Given the description of an element on the screen output the (x, y) to click on. 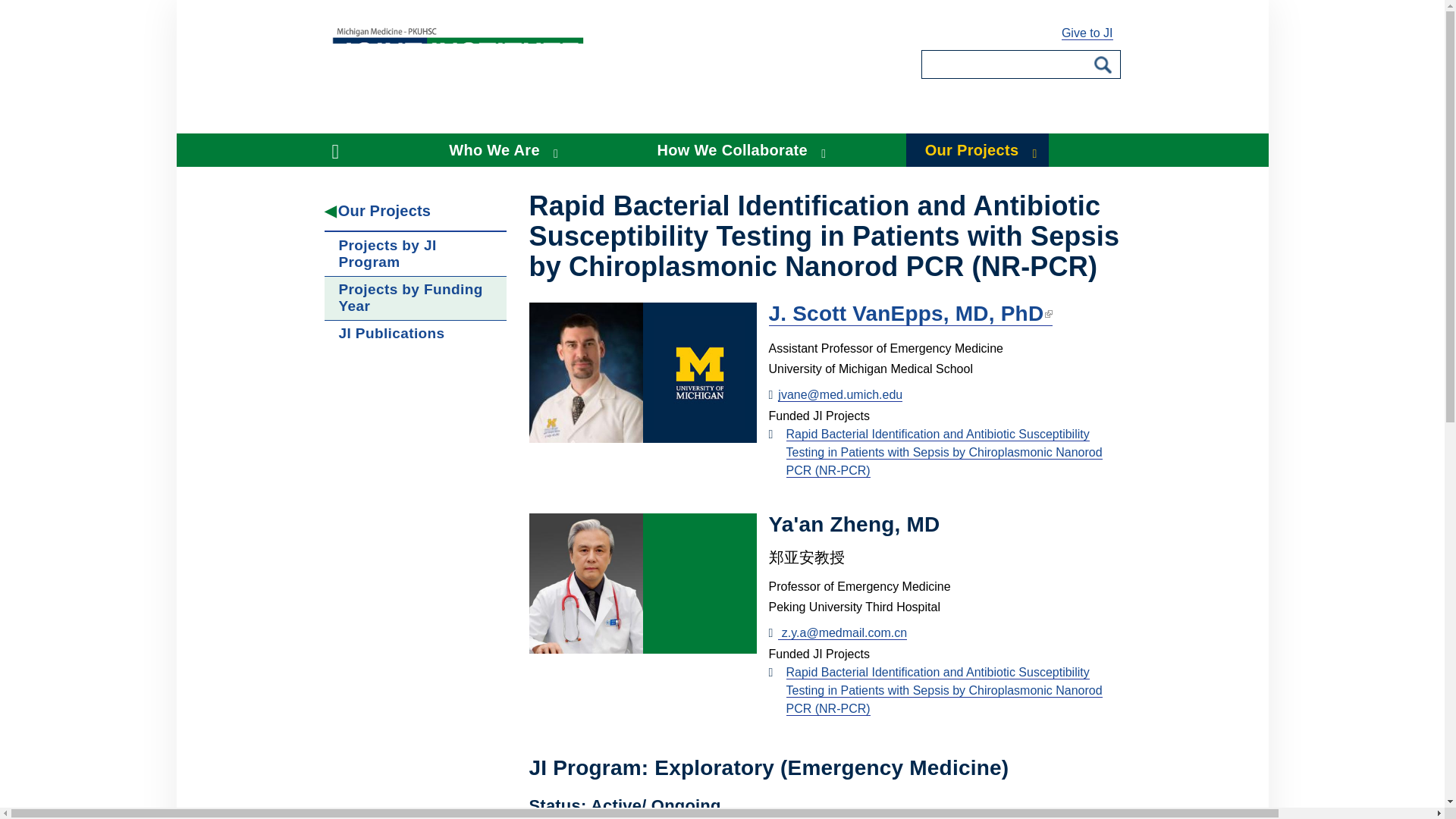
Our Projects (977, 150)
How We Collaborate (738, 150)
Projects by Funding Year (415, 297)
Home (343, 150)
Our Projects (415, 210)
Projects by JI Program (415, 253)
JI Publications (415, 334)
Who We Are (499, 150)
